Given the description of an element on the screen output the (x, y) to click on. 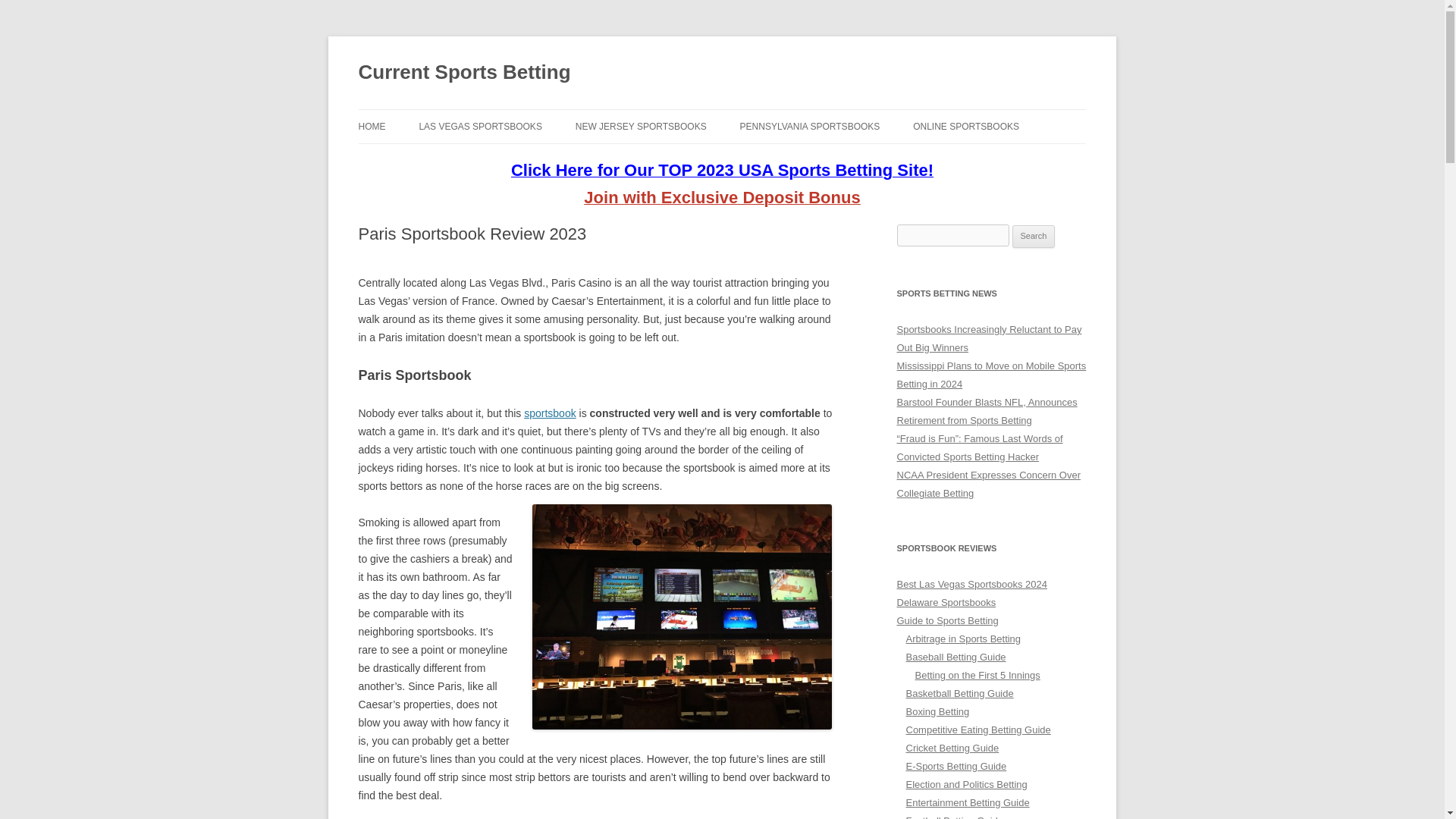
PENNSYLVANIA SPORTSBOOKS (809, 126)
Search (1033, 236)
Guide to Sports Betting (946, 620)
ONLINE SPORTSBOOKS (965, 126)
Baseball Betting Guide (955, 656)
Sportsbooks Increasingly Reluctant to Pay Out Big Winners (988, 337)
Search (1033, 236)
Mississippi Plans to Move on Mobile Sports Betting in 2024 (991, 374)
